Given the description of an element on the screen output the (x, y) to click on. 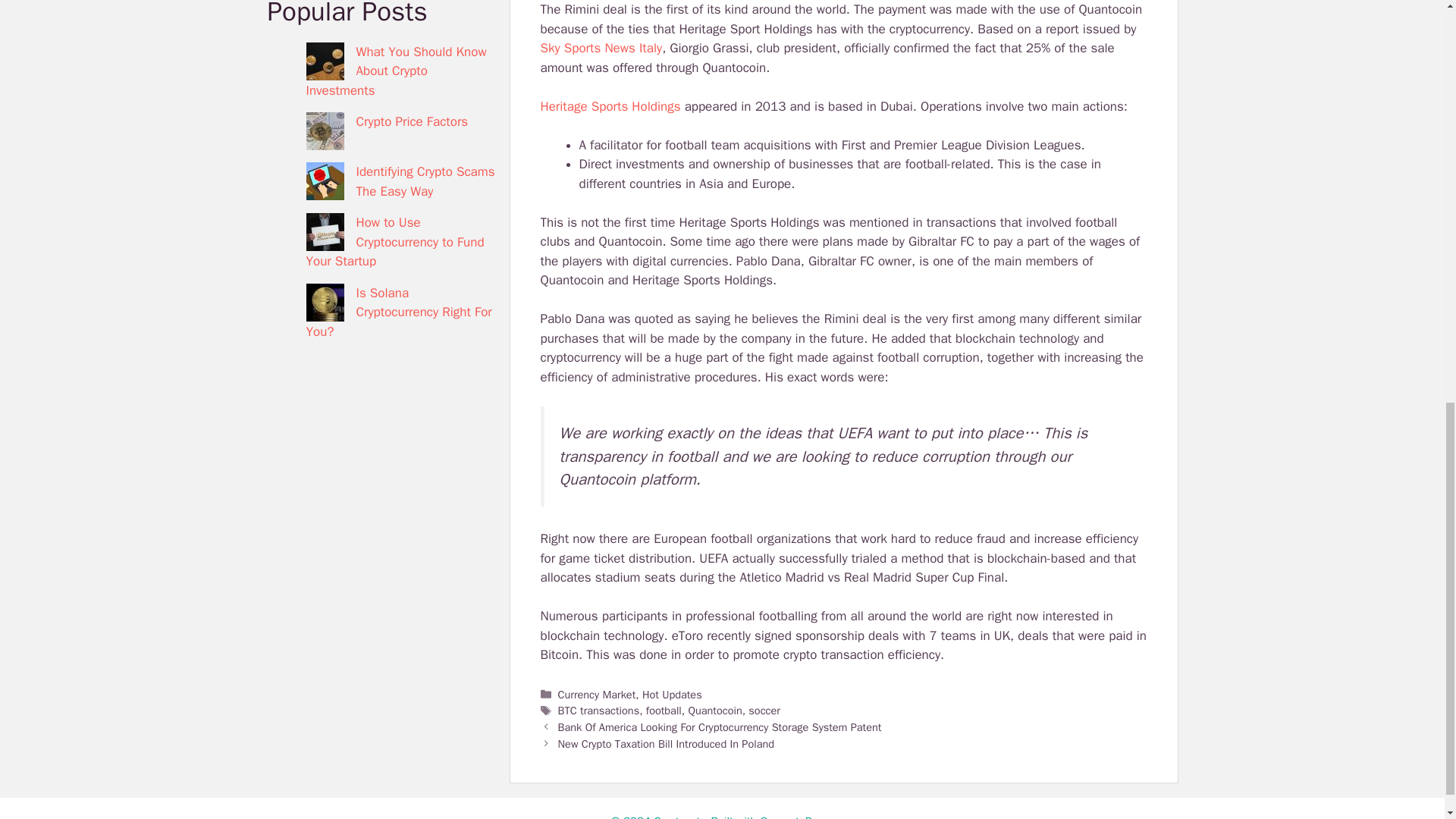
Hot Updates (671, 694)
Quantocoin (714, 710)
New Crypto Taxation Bill Introduced In Poland (665, 744)
Heritage Sports Holdings (609, 106)
What You Should Know About Crypto Investments (395, 71)
football (663, 710)
Identifying Crypto Scams The Easy Way (425, 181)
Sky Sports News Italy (601, 48)
Currency Market (596, 694)
soccer (764, 710)
BTC transactions (598, 710)
Crypto Price Factors (412, 121)
